Given the description of an element on the screen output the (x, y) to click on. 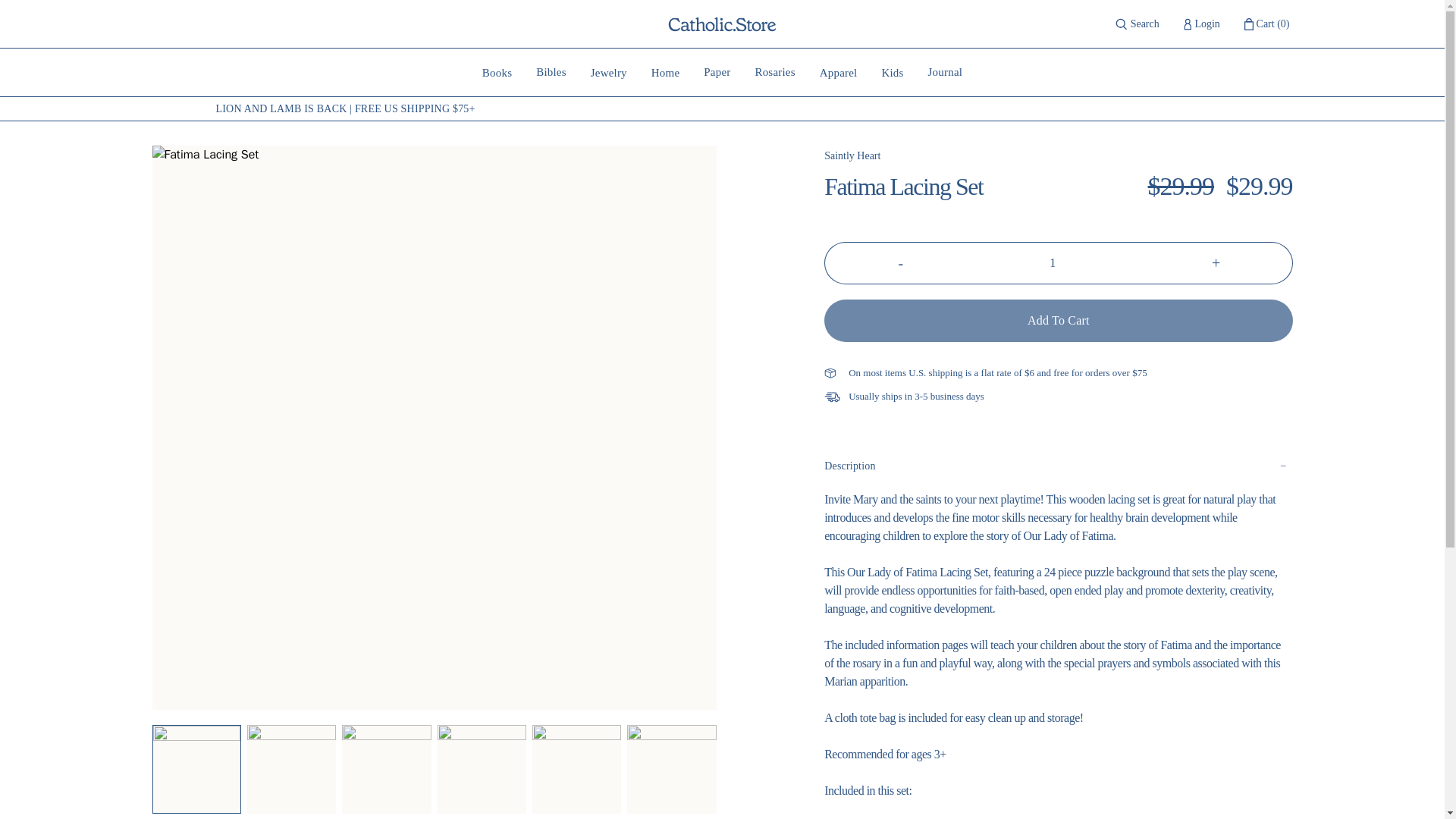
Home (900, 262)
Jewelry (665, 72)
Search (608, 72)
Rosaries (1136, 23)
1 (774, 72)
Bibles (1058, 262)
Login (551, 72)
Kids (1201, 23)
Saintly Heart (892, 72)
Add To Cart (852, 155)
Books (1058, 320)
Apparel (497, 72)
Paper (838, 72)
Journal (716, 72)
